Given the description of an element on the screen output the (x, y) to click on. 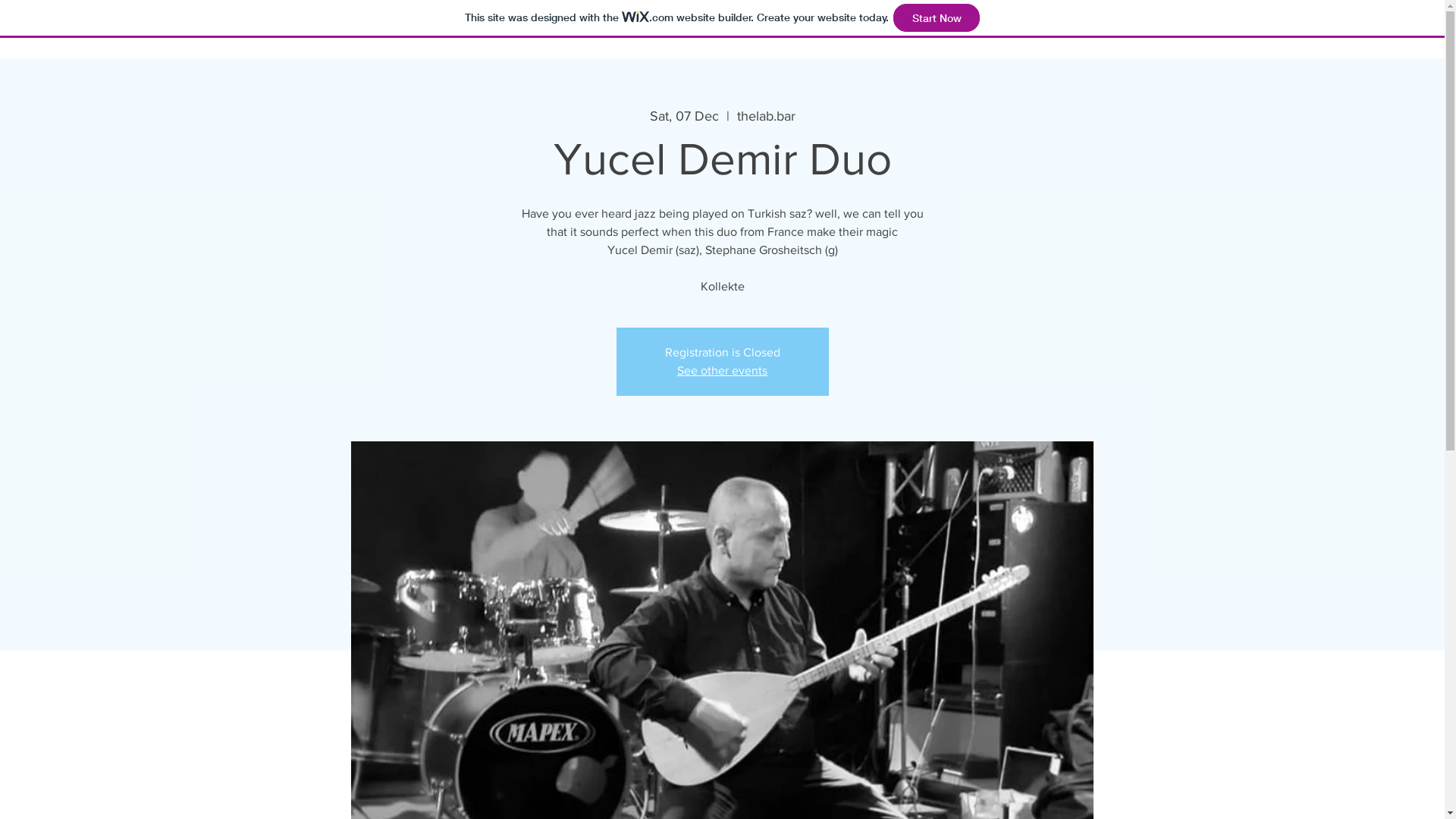
See other events Element type: text (722, 370)
